Given the description of an element on the screen output the (x, y) to click on. 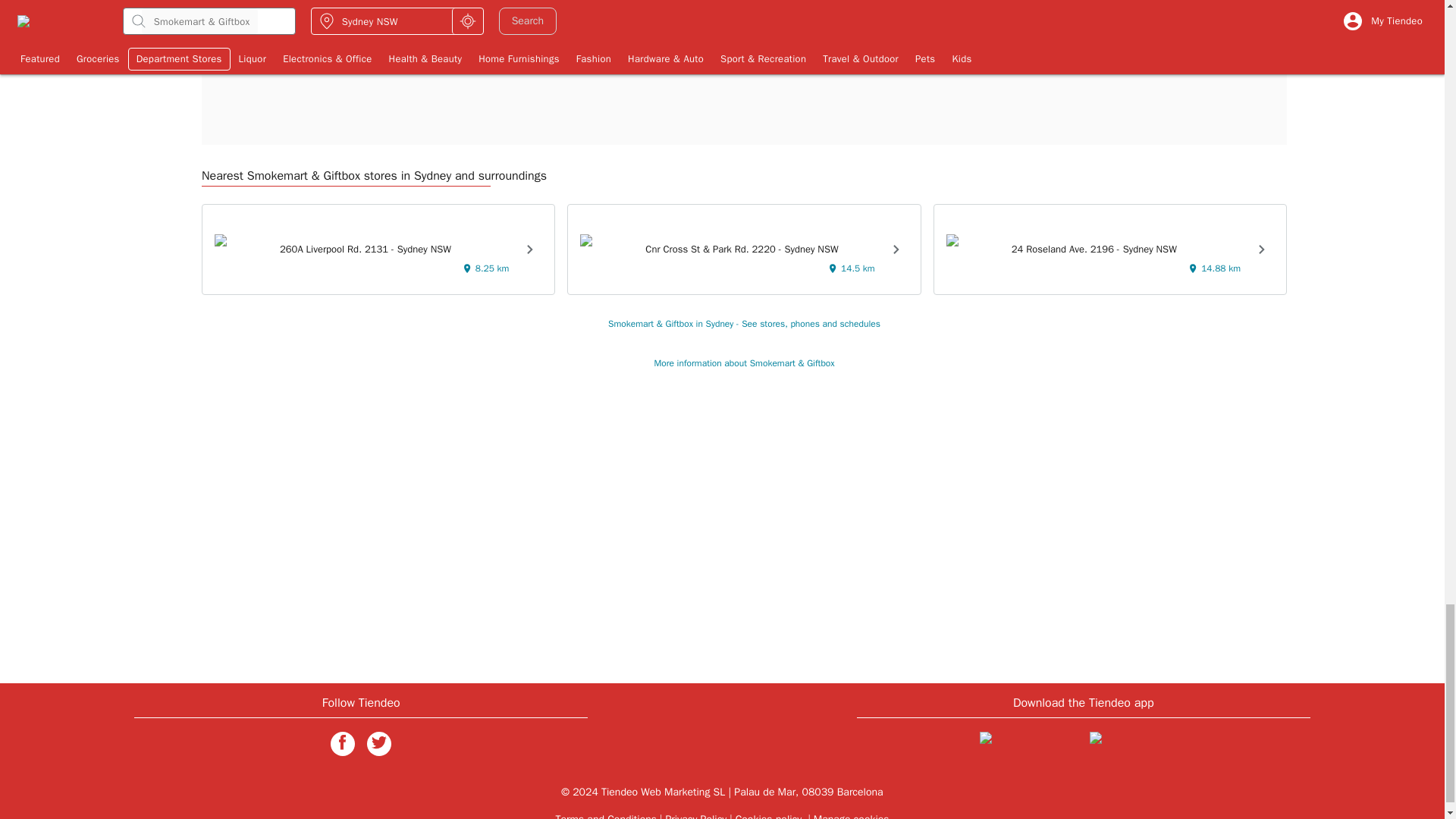
Logo David Jones (314, 23)
Android App (1138, 746)
facebook (342, 743)
twitter (378, 743)
iOS App (1028, 746)
